Given the description of an element on the screen output the (x, y) to click on. 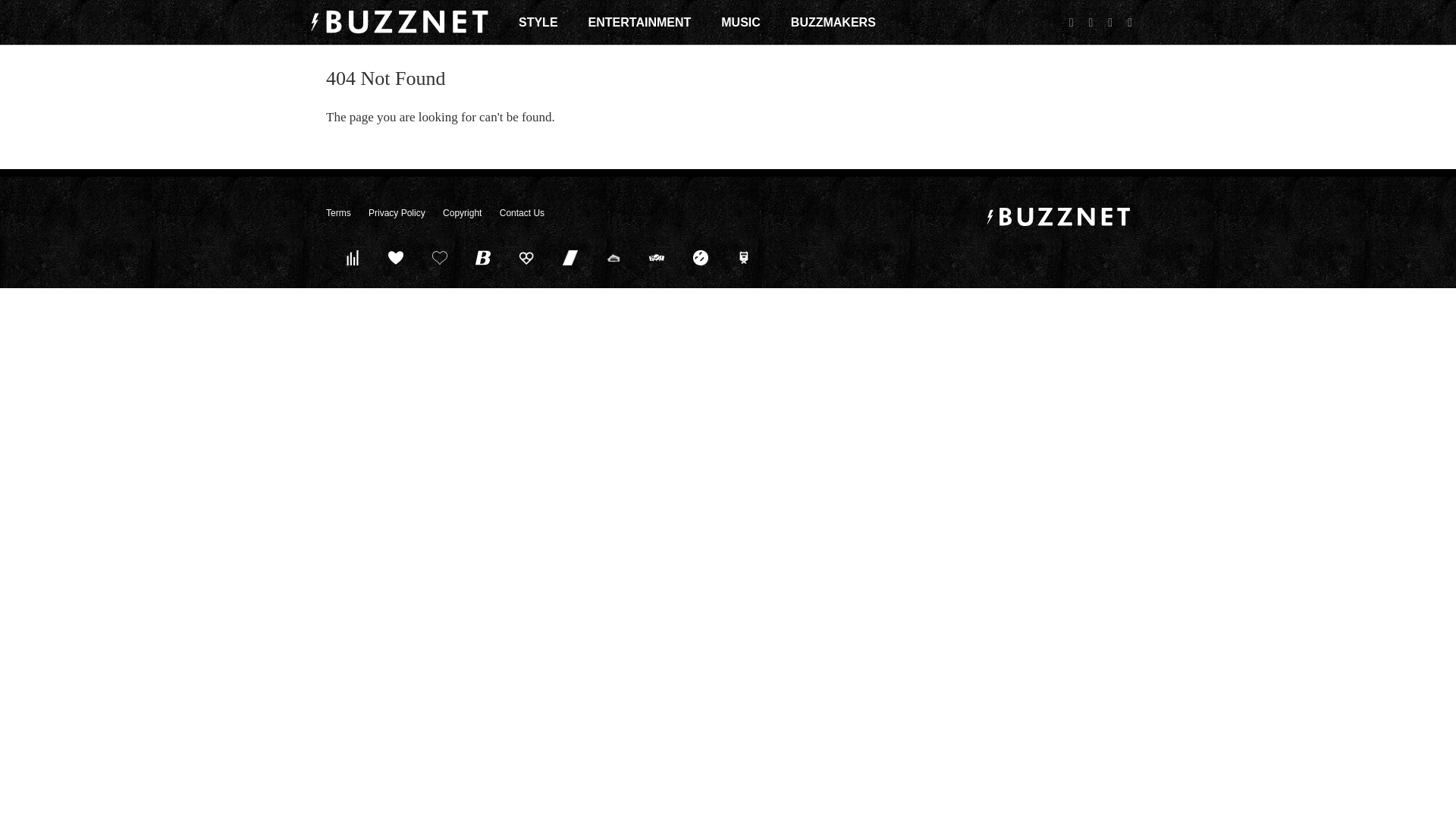
STYLE (538, 22)
Terms (338, 213)
Explored Hollywood (743, 257)
Hooch (526, 257)
Pure Volume (351, 257)
Trend Chaser (570, 257)
Post Fun (439, 257)
Copyright (461, 213)
BUZZMAKERS (833, 22)
Daily Funny (699, 257)
BleacherBreaker (483, 257)
Idolator (395, 257)
Contact Us (521, 213)
Privacy Policy (396, 213)
Quizscape (656, 257)
